Given the description of an element on the screen output the (x, y) to click on. 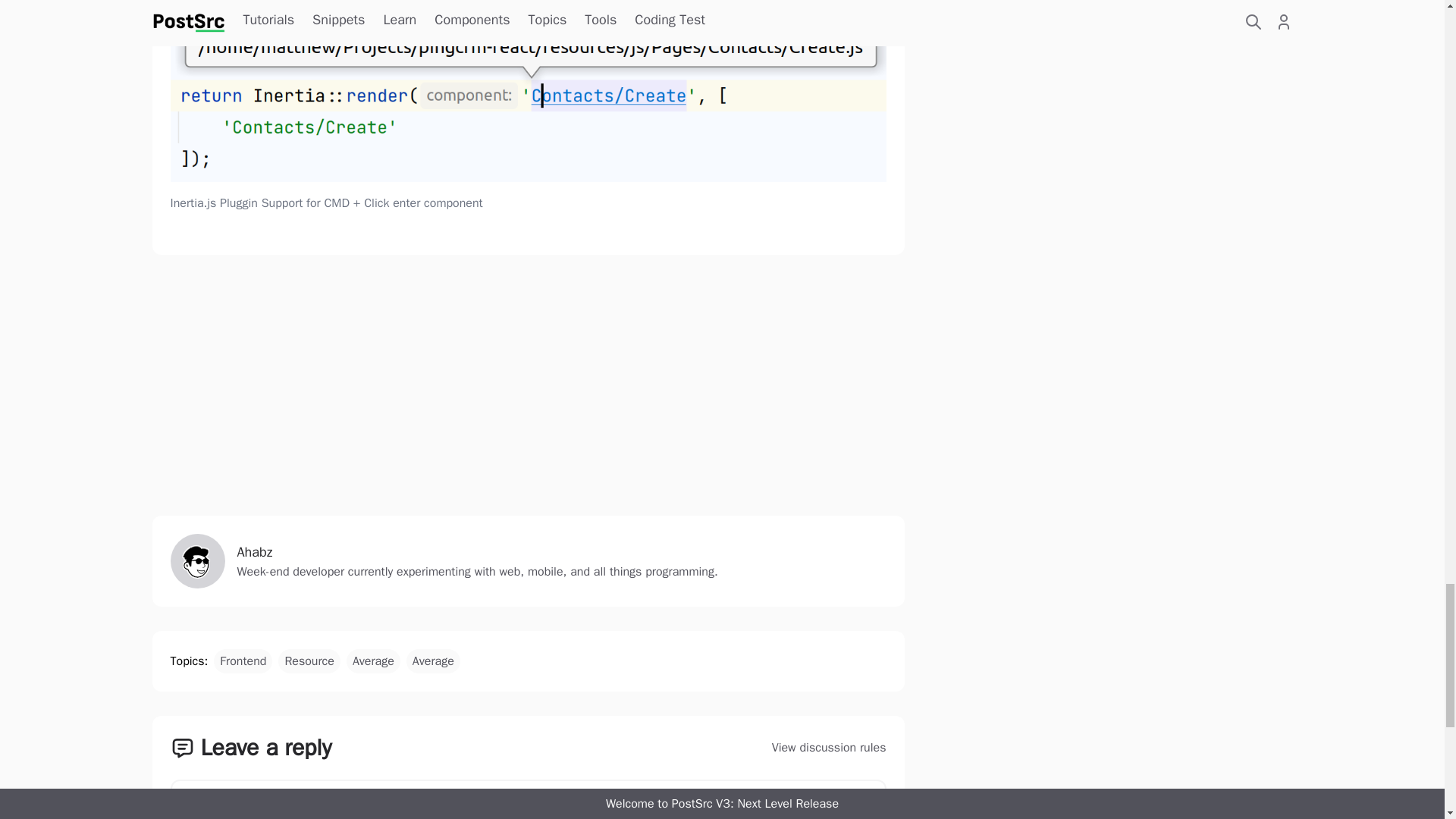
View discussion rules (527, 776)
